Given the description of an element on the screen output the (x, y) to click on. 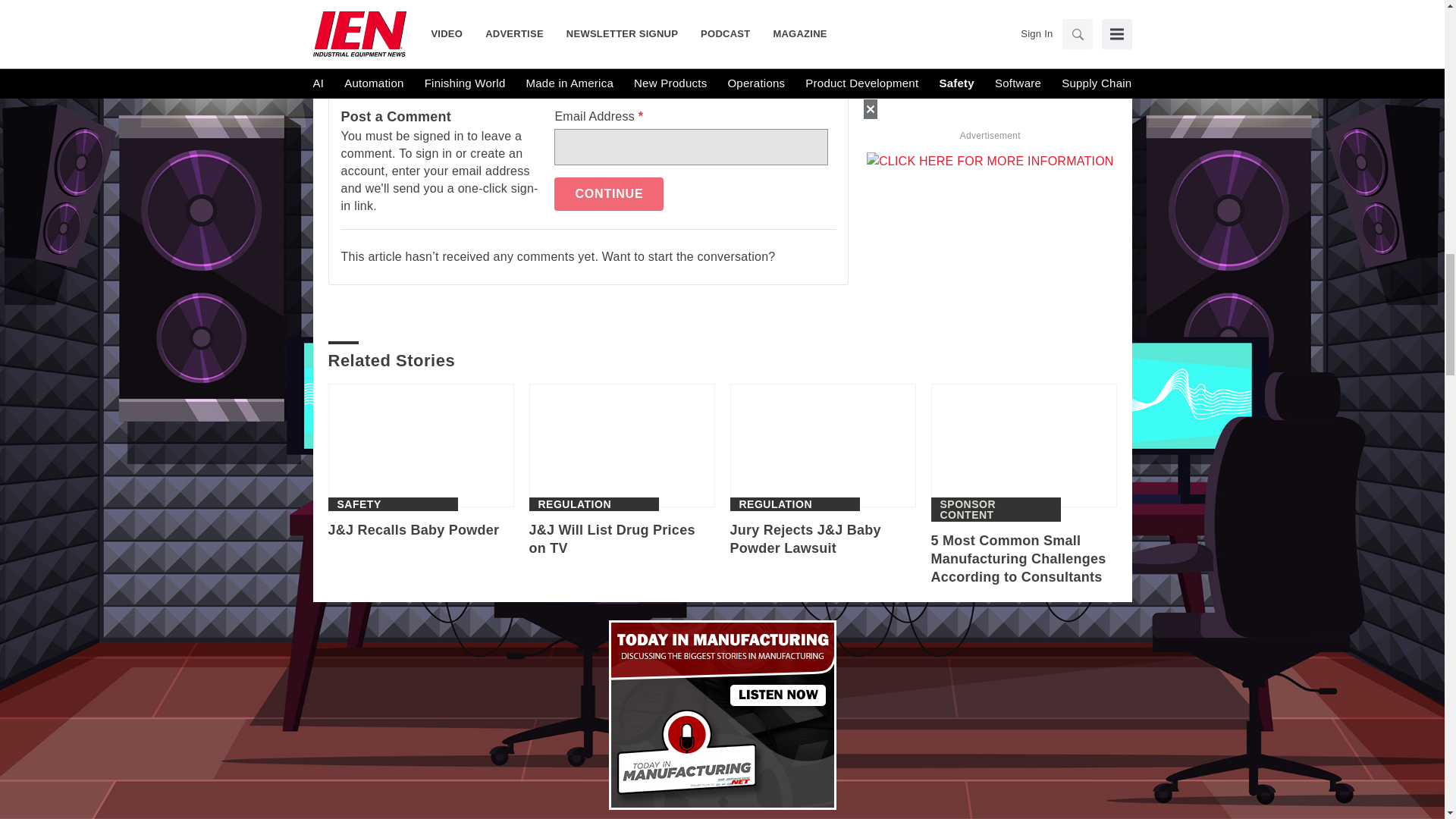
Share To print (342, 2)
Share To linkedin (421, 2)
Share To facebook (381, 2)
